Given the description of an element on the screen output the (x, y) to click on. 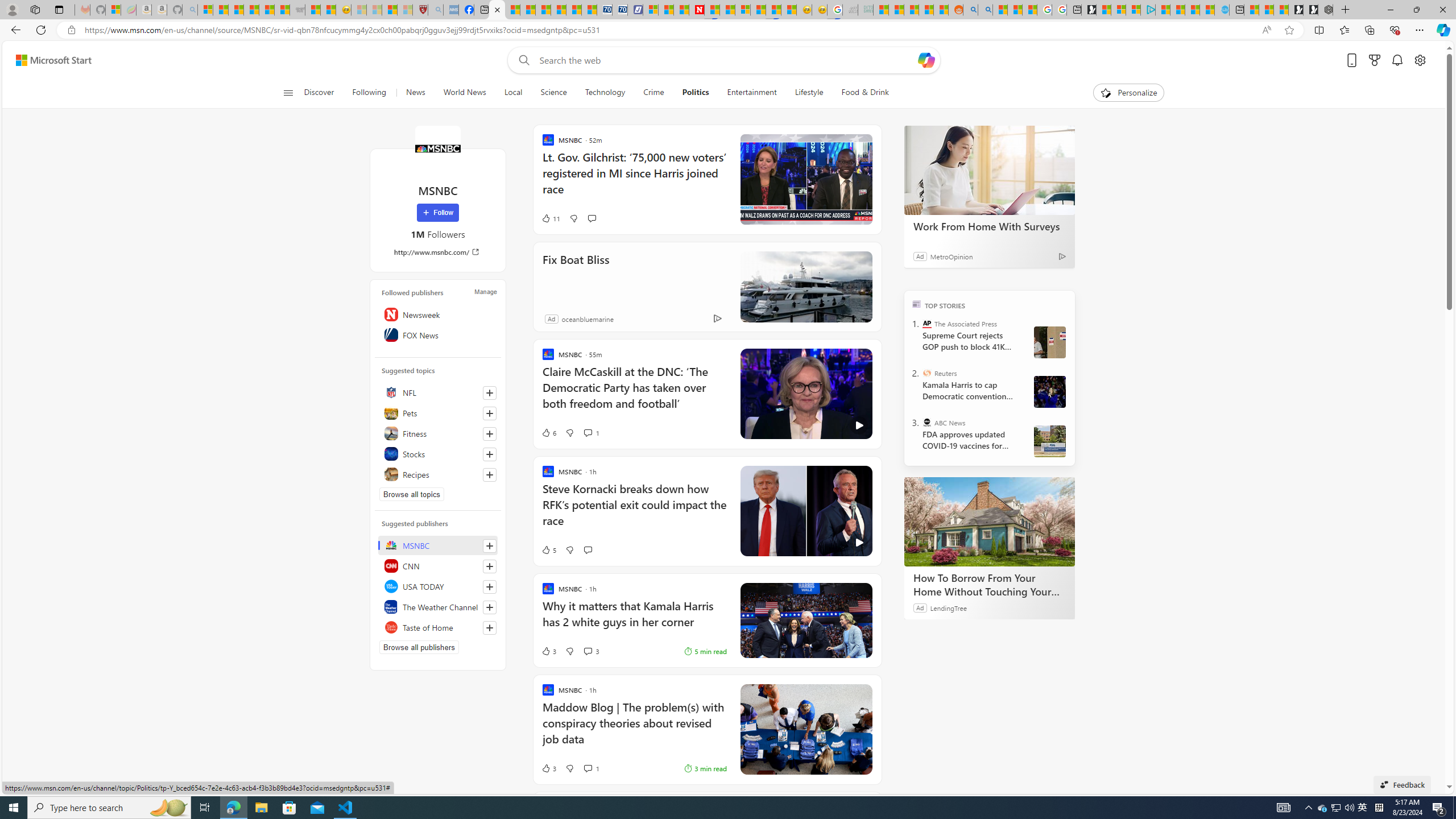
Follow this topic (489, 474)
FOX News (437, 334)
Student Loan Update: Forgiveness Program Ends This Month (926, 9)
NCL Adult Asthma Inhaler Choice Guideline - Sleeping (450, 9)
Browse all topics (412, 494)
Microsoft account | Privacy (1133, 9)
http://www.msnbc.com/ (438, 251)
Browse all publishers (419, 647)
Navy Quest (850, 9)
Politics (695, 92)
Home | Sky Blue Bikes - Sky Blue Bikes (1221, 9)
